Given the description of an element on the screen output the (x, y) to click on. 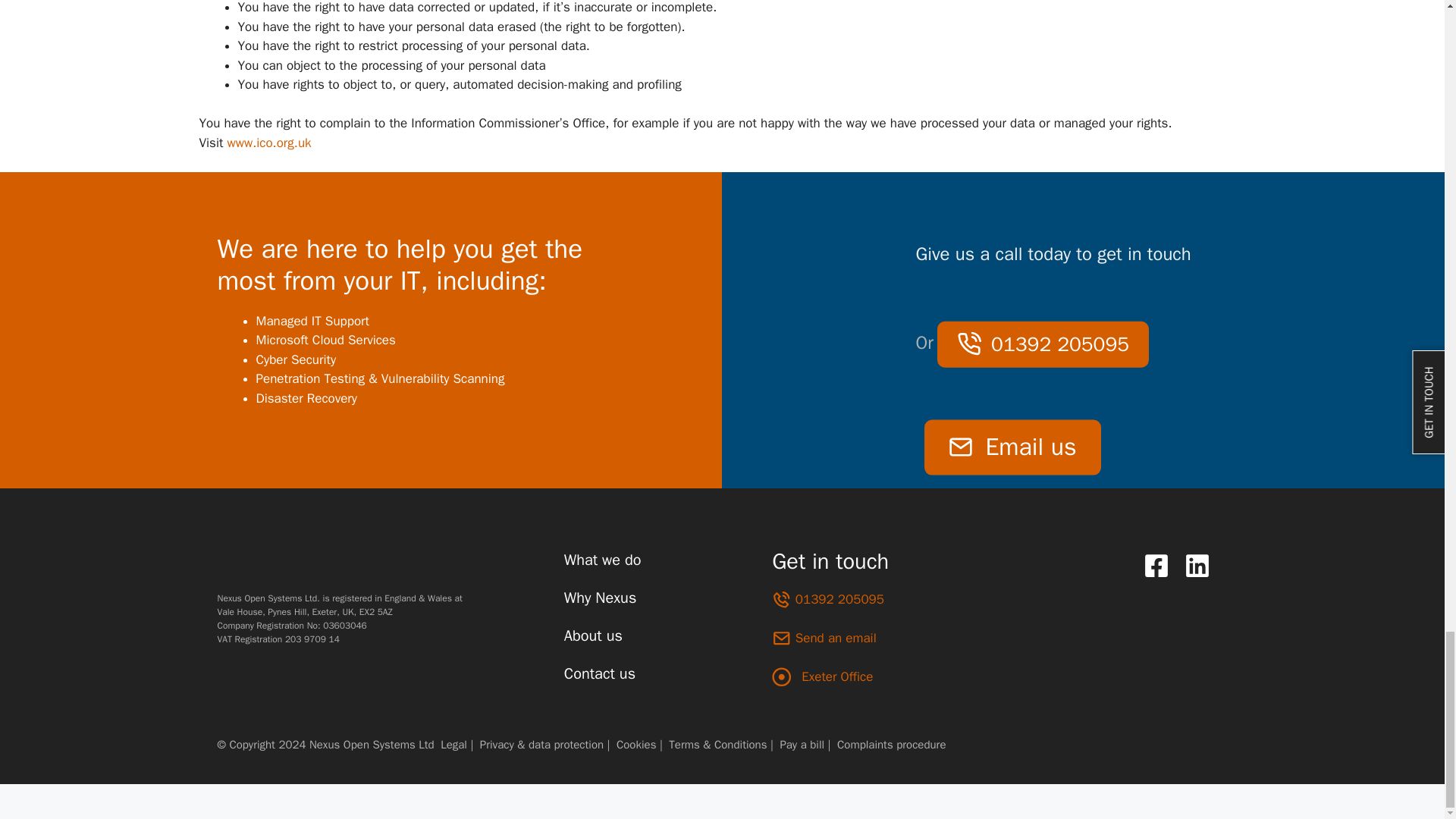
LinkedIn icon (1192, 565)
Facebook icon (1155, 565)
